Given the description of an element on the screen output the (x, y) to click on. 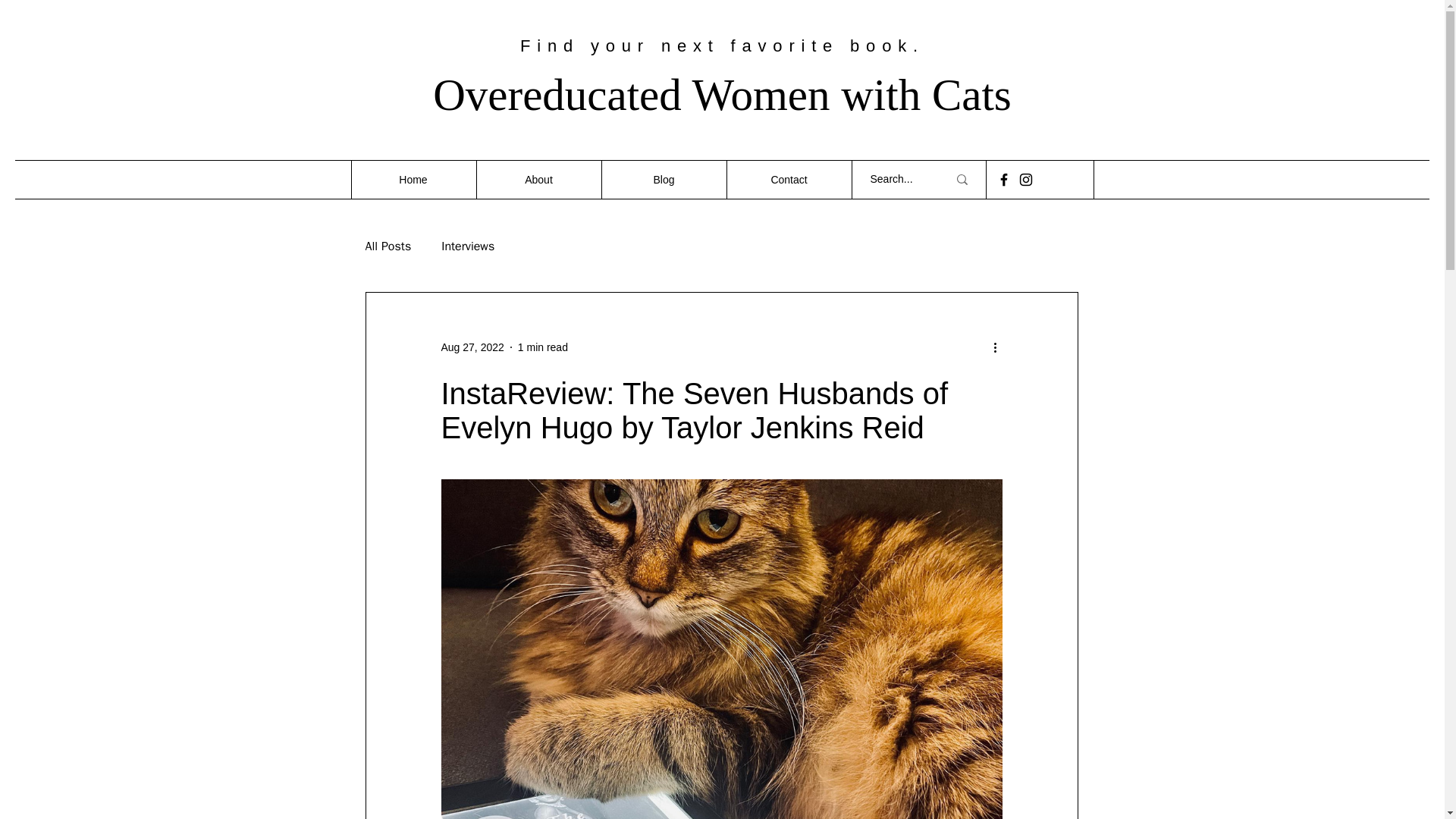
Contact (788, 179)
Aug 27, 2022 (472, 346)
About (538, 179)
Interviews (468, 245)
All Posts (388, 245)
Overeducated Women with Cats (721, 94)
Home (413, 179)
1 min read (542, 346)
Blog (662, 179)
